Given the description of an element on the screen output the (x, y) to click on. 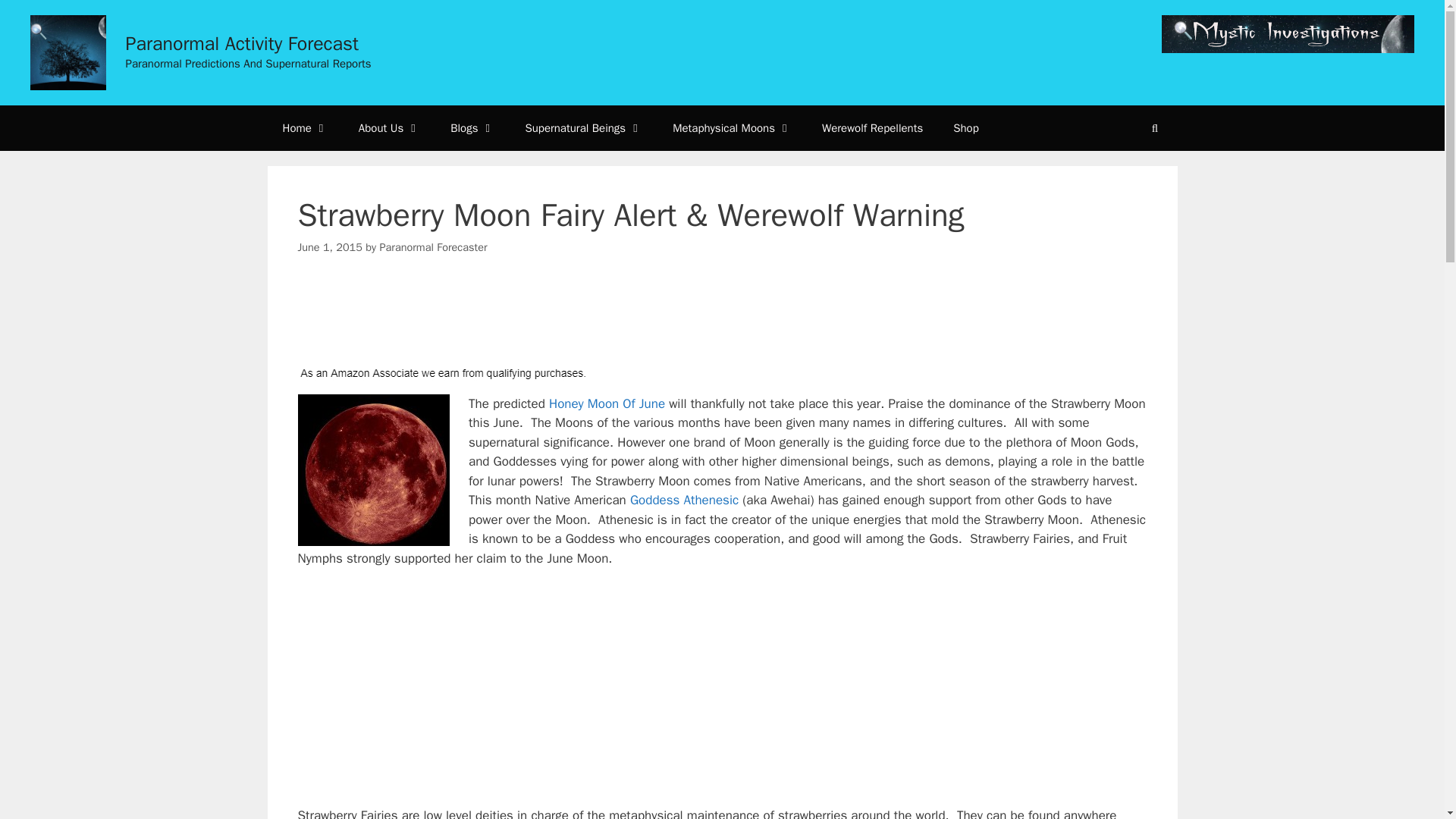
Shop (965, 127)
About Us (389, 127)
Paranormal Forecaster (432, 246)
Home (304, 127)
Goddess Athenesic (684, 499)
Blogs (472, 127)
Paranormal Activity Forecast (242, 43)
Honey Moon Of June (606, 403)
Werewolf Repellents (871, 127)
